Given the description of an element on the screen output the (x, y) to click on. 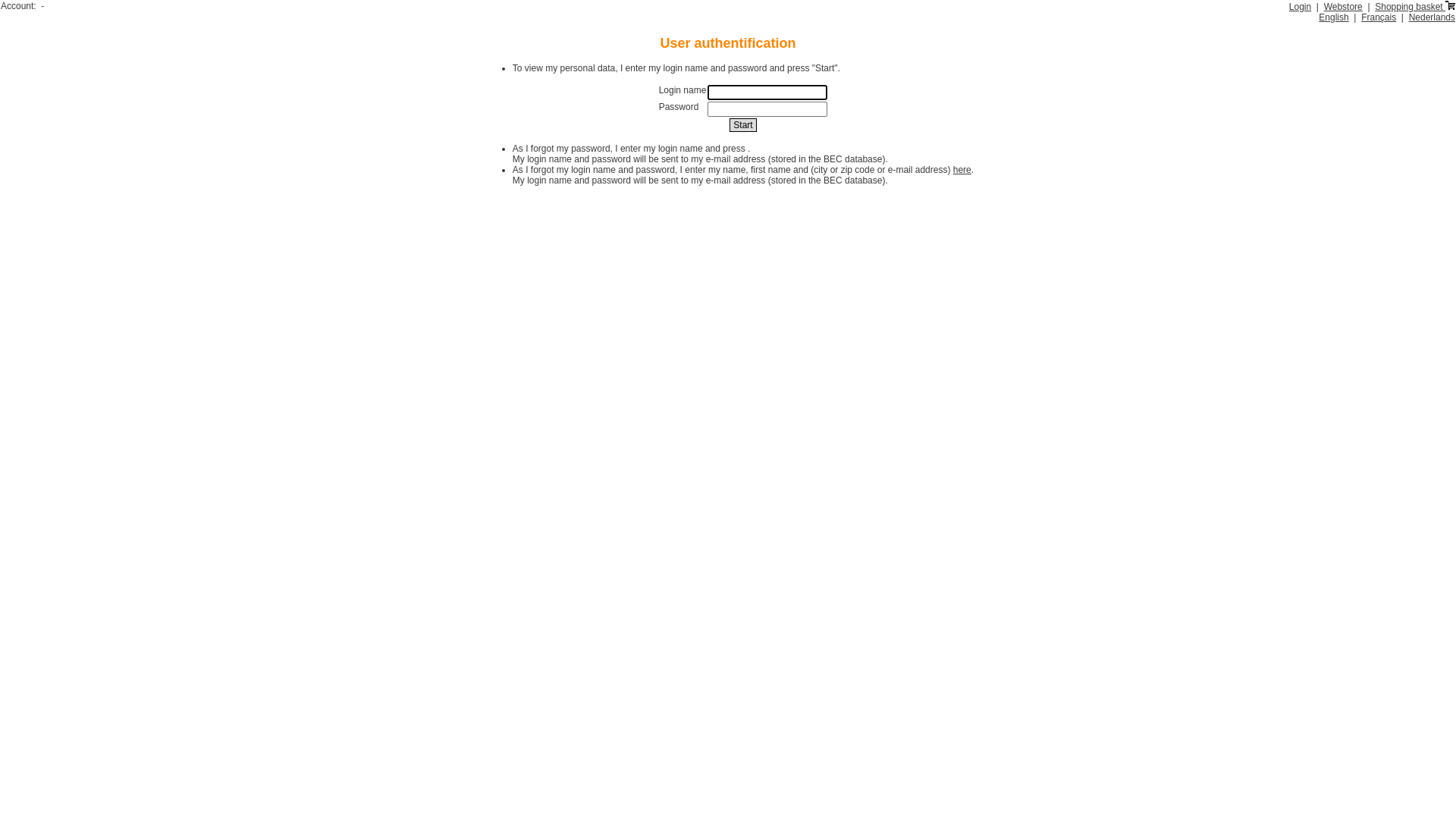
Webstore Element type: text (1343, 6)
Shopping basket  Element type: text (1414, 6)
Login Element type: text (1300, 6)
Start Element type: text (742, 124)
here Element type: text (962, 169)
Nederlands Element type: text (1431, 17)
English Element type: text (1333, 17)
